Given the description of an element on the screen output the (x, y) to click on. 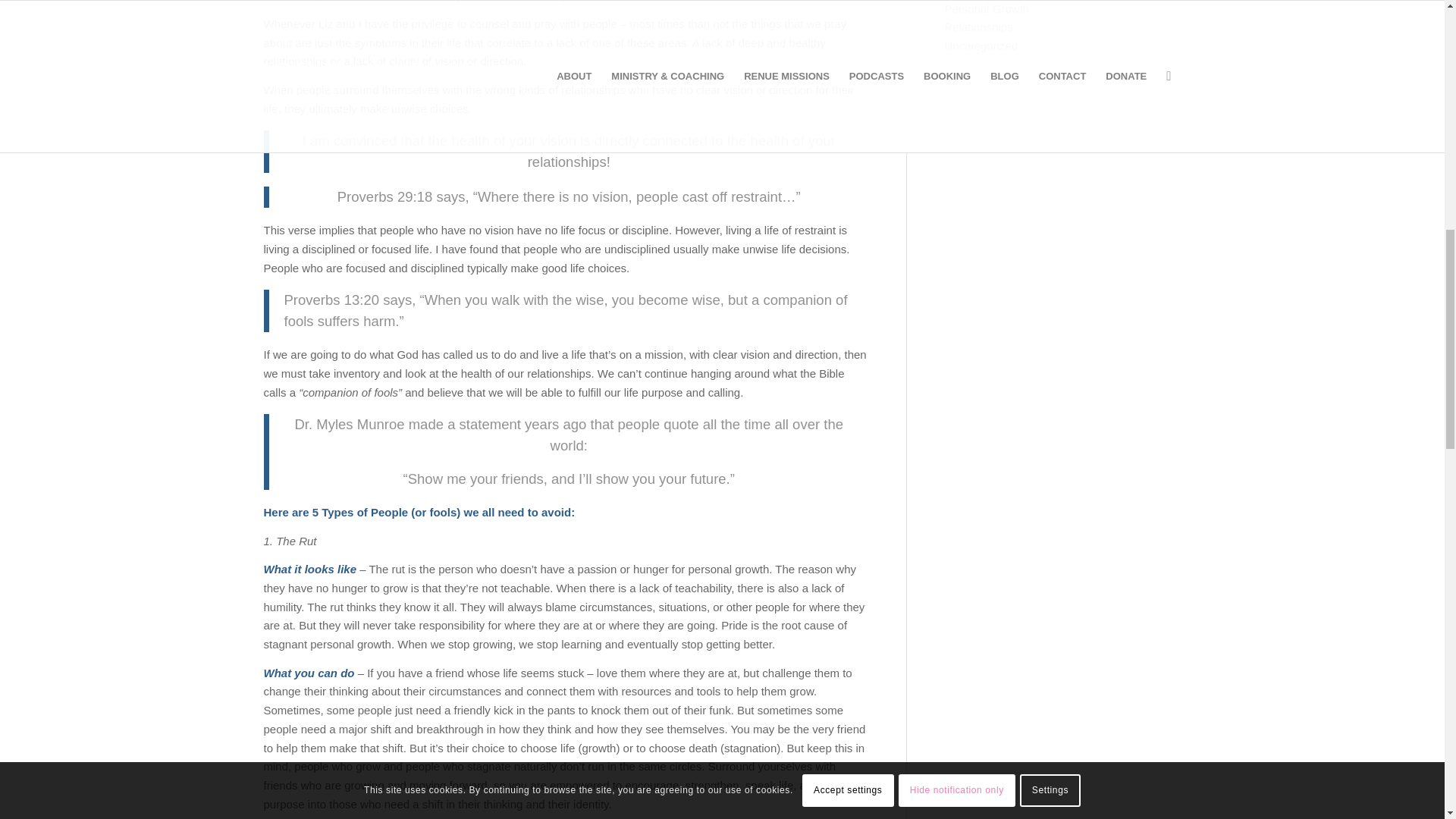
Personal Growth (986, 8)
Relationships (978, 26)
